Given the description of an element on the screen output the (x, y) to click on. 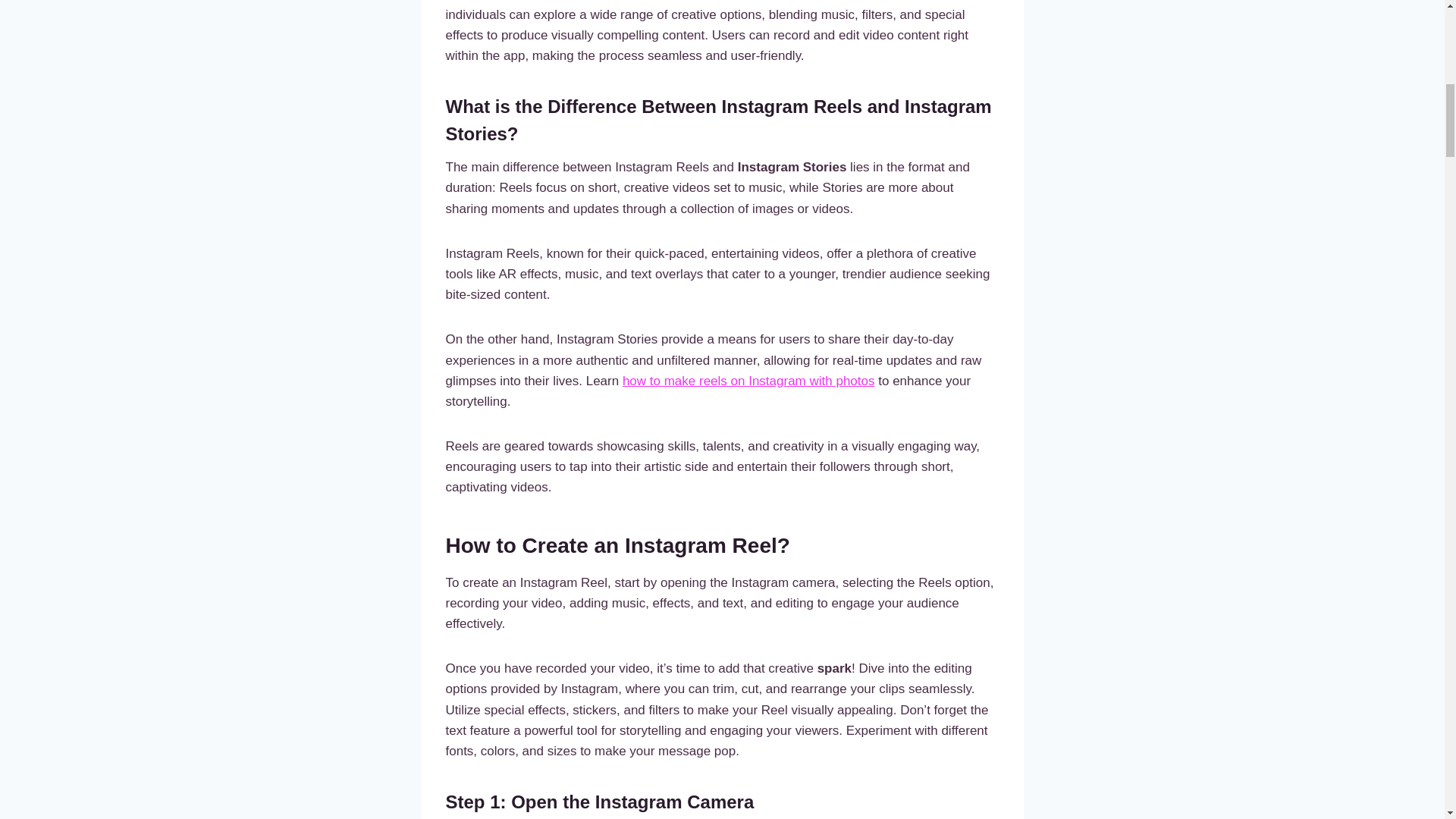
how to make reels on Instagram with photos (749, 380)
